Given the description of an element on the screen output the (x, y) to click on. 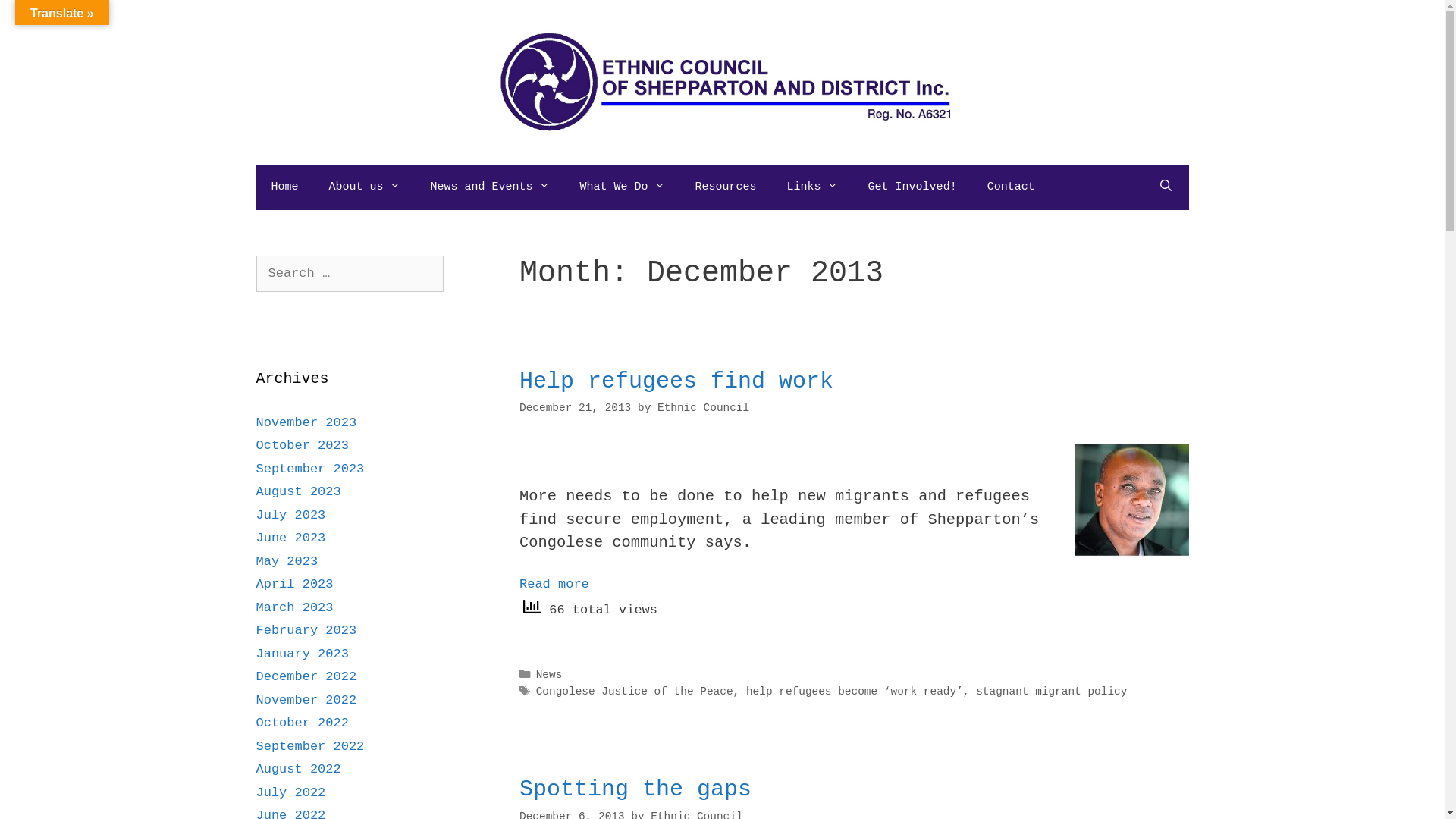
Spotting the gaps Element type: text (635, 789)
July 2023 Element type: text (291, 515)
July 2022 Element type: text (291, 792)
Home Element type: text (284, 187)
September 2022 Element type: text (310, 746)
March 2023 Element type: text (294, 607)
About us Element type: text (364, 187)
November 2022 Element type: text (306, 700)
Search for: Element type: hover (350, 273)
May 2023 Element type: text (287, 561)
October 2023 Element type: text (302, 445)
Search Element type: text (39, 18)
Help refugees find work Element type: text (676, 381)
Resources Element type: text (725, 187)
December 2022 Element type: text (306, 676)
Contact Element type: text (1011, 187)
August 2023 Element type: text (298, 491)
Get Involved! Element type: text (912, 187)
April 2023 Element type: text (294, 584)
January 2023 Element type: text (302, 653)
Read more Element type: text (554, 584)
June 2023 Element type: text (291, 537)
What We Do Element type: text (622, 187)
August 2022 Element type: text (298, 769)
February 2023 Element type: text (306, 630)
stagnant migrant policy Element type: text (1050, 691)
November 2023 Element type: text (306, 422)
News and Events Element type: text (489, 187)
Ethnic Council Element type: text (703, 407)
News Element type: text (549, 674)
Congolese Justice of the Peace Element type: text (634, 691)
October 2022 Element type: text (302, 722)
September 2023 Element type: text (310, 468)
Links Element type: text (812, 187)
